Given the description of an element on the screen output the (x, y) to click on. 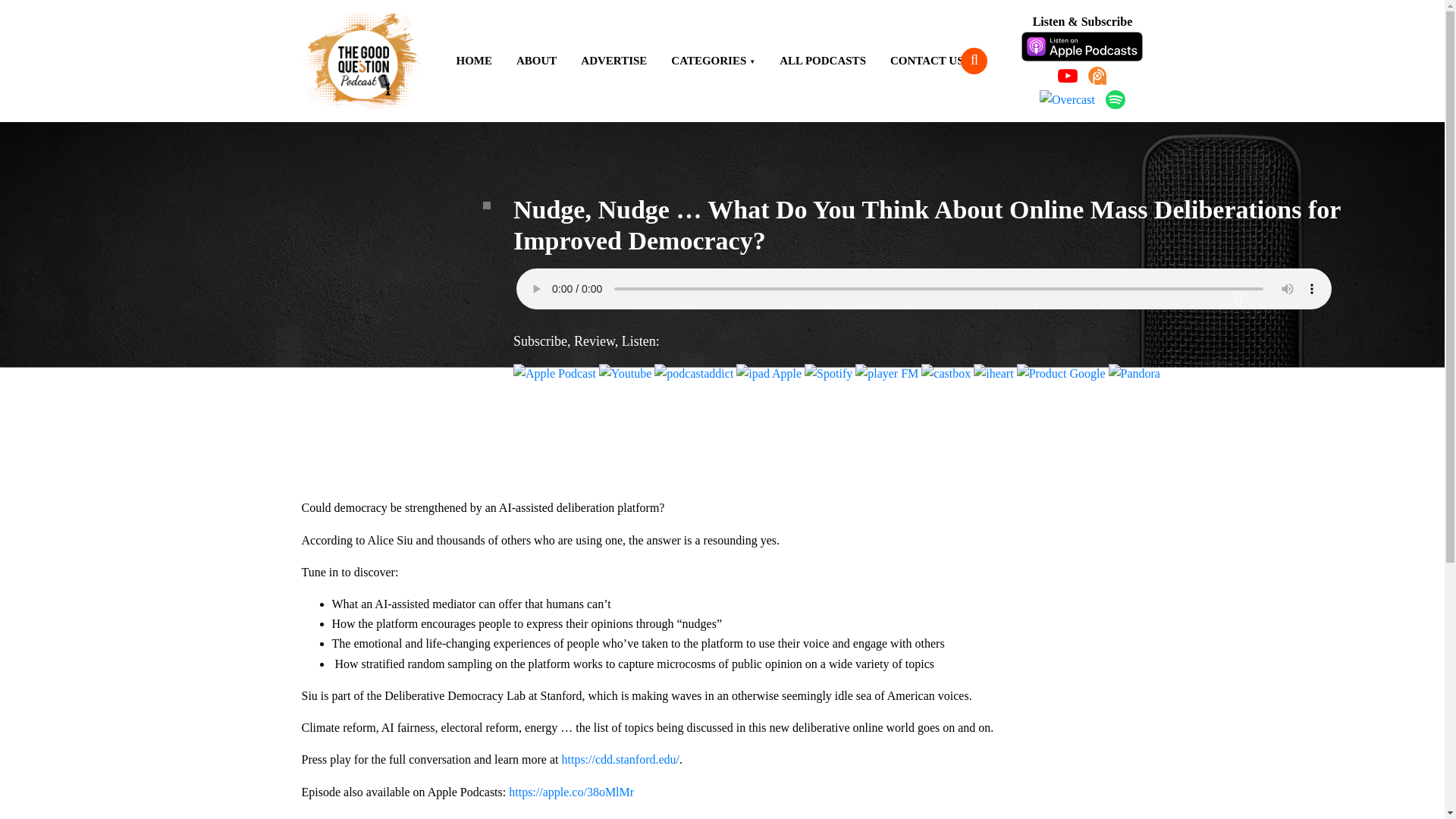
Youtube (625, 373)
Castbox (946, 373)
HOME (474, 60)
Overcast (1066, 99)
Pandora (1134, 373)
Overcast (769, 373)
YouTube (1067, 75)
Google Podcast (1060, 373)
Apple (1082, 46)
Podcast Addict (693, 373)
Spotify (1115, 99)
iHeartRadio (993, 373)
Spotify (828, 373)
ALL PODCASTS (822, 60)
ABOUT (536, 60)
